Given the description of an element on the screen output the (x, y) to click on. 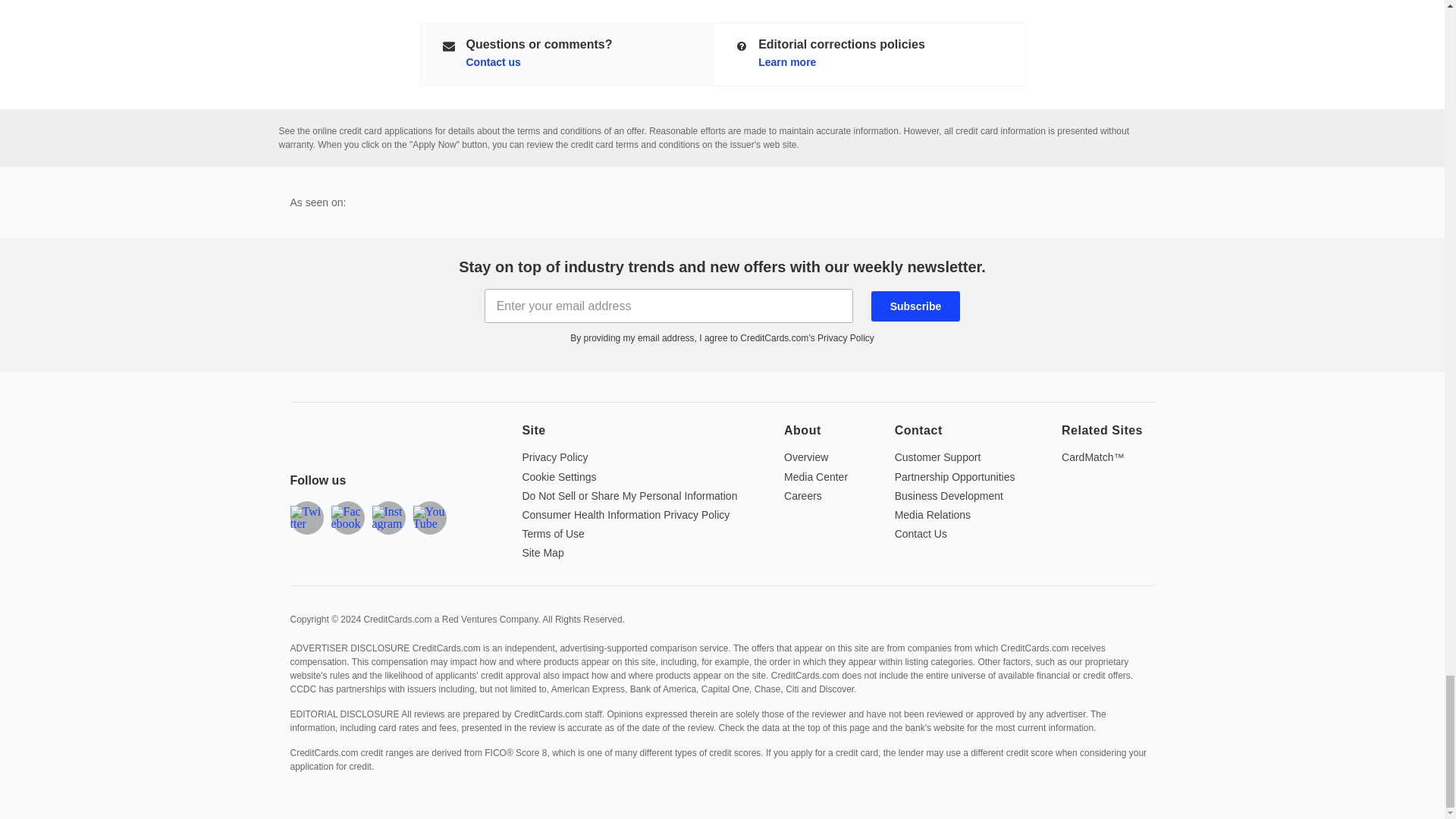
YouTube (428, 517)
Instagram (387, 517)
Twitter (306, 517)
Facebook (347, 517)
